Given the description of an element on the screen output the (x, y) to click on. 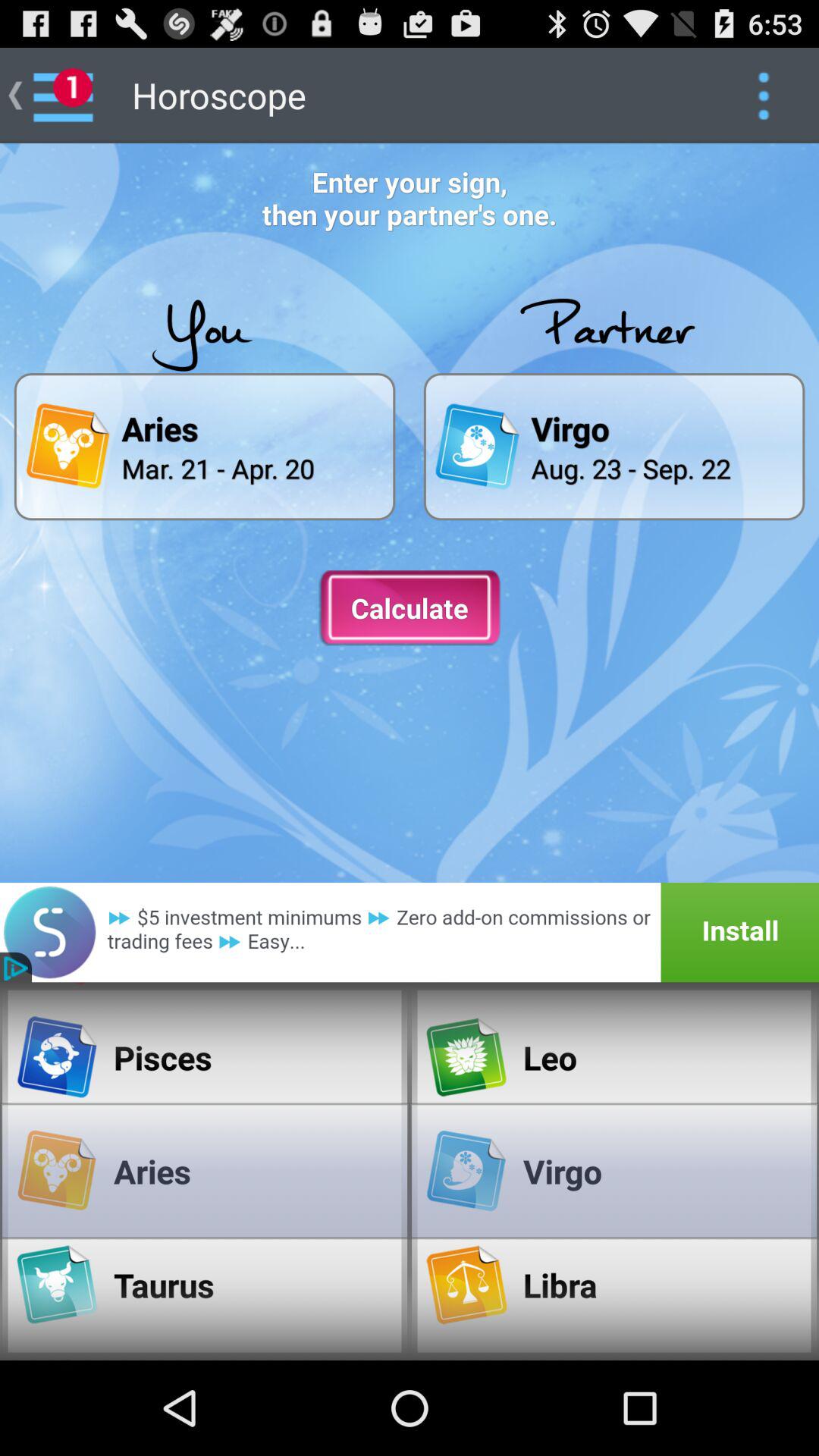
it is adverdisement (409, 932)
